Given the description of an element on the screen output the (x, y) to click on. 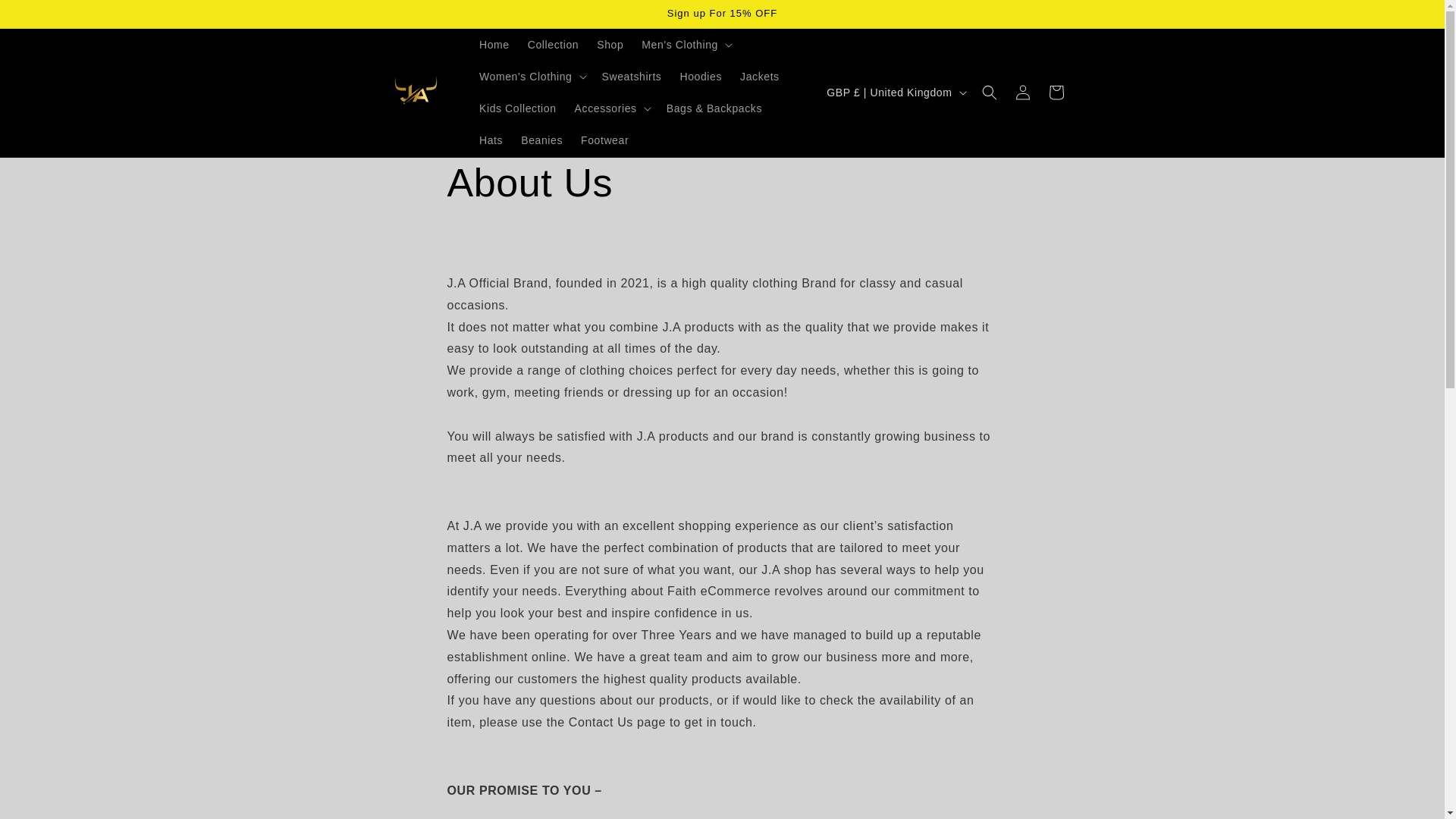
Collection (553, 44)
Shop (609, 44)
Home (494, 44)
Skip to content (45, 17)
